Given the description of an element on the screen output the (x, y) to click on. 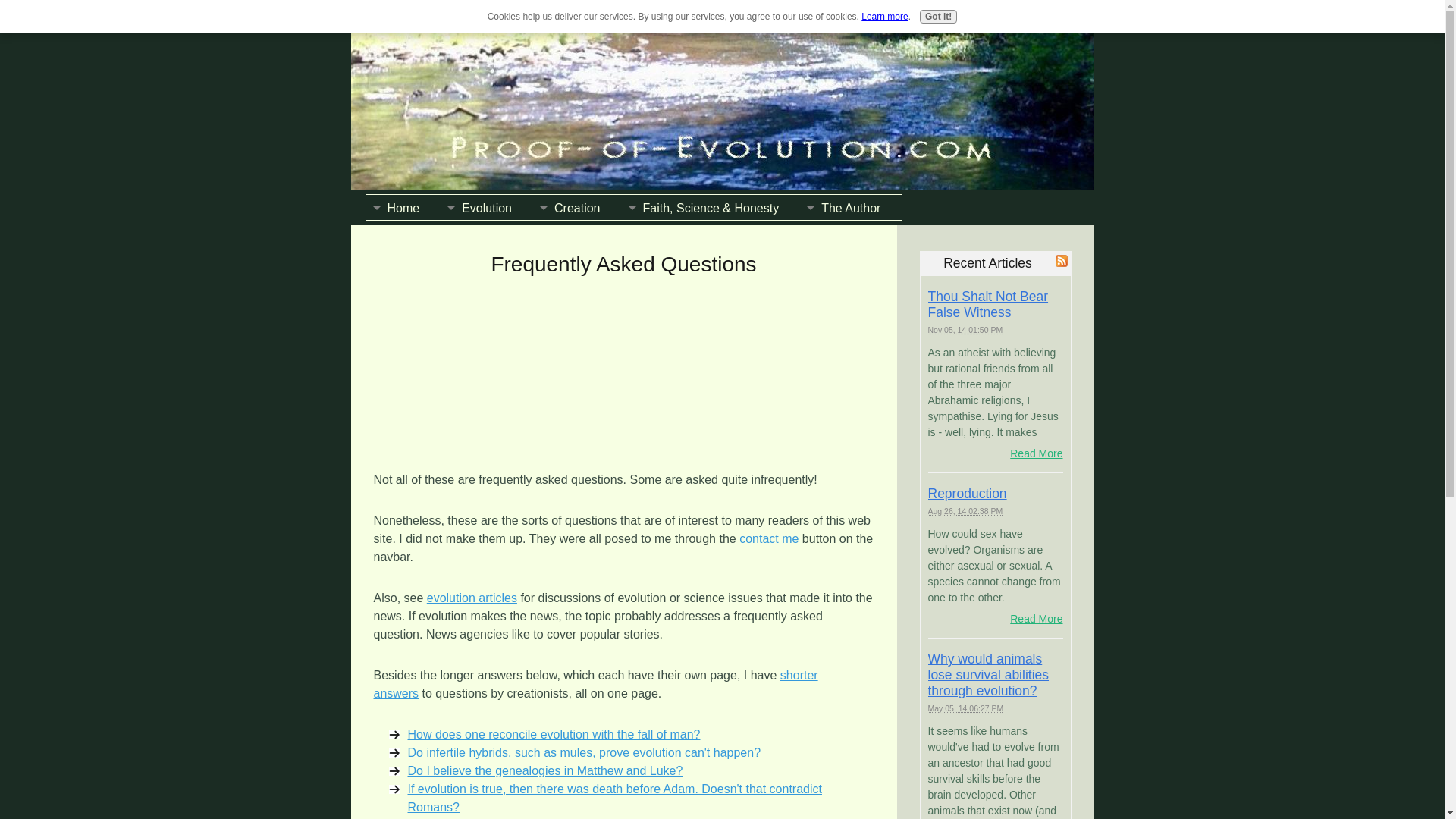
Read More (1036, 453)
Reproduction (967, 493)
Advertisement (448, 363)
Thou Shalt Not Bear False Witness (988, 304)
2014-11-05T13:50:59-0500 (965, 329)
Do I believe the genealogies in Matthew and Luke? (544, 770)
2014-05-05T18:27:34-0400 (966, 707)
contact me (768, 538)
2014-08-26T14:38:48-0400 (965, 510)
shorter answers (594, 684)
evolution articles (471, 597)
How does one reconcile evolution with the fall of man? (553, 734)
